Given the description of an element on the screen output the (x, y) to click on. 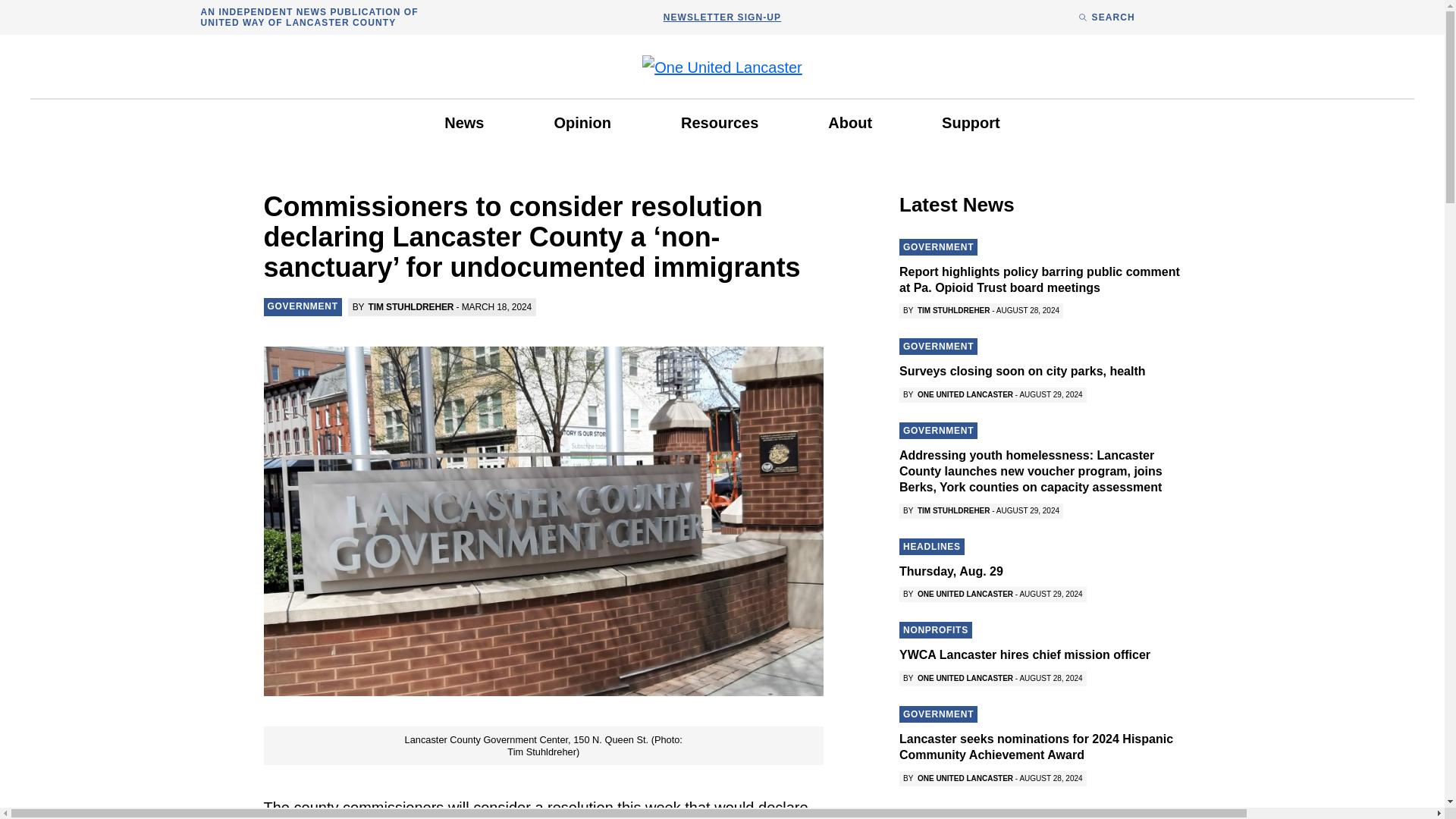
Resources (719, 122)
News (464, 122)
TIM STUHLDREHER (411, 307)
About (849, 122)
NEWSLETTER SIGN-UP (721, 17)
Search (888, 429)
Support (970, 122)
